Given the description of an element on the screen output the (x, y) to click on. 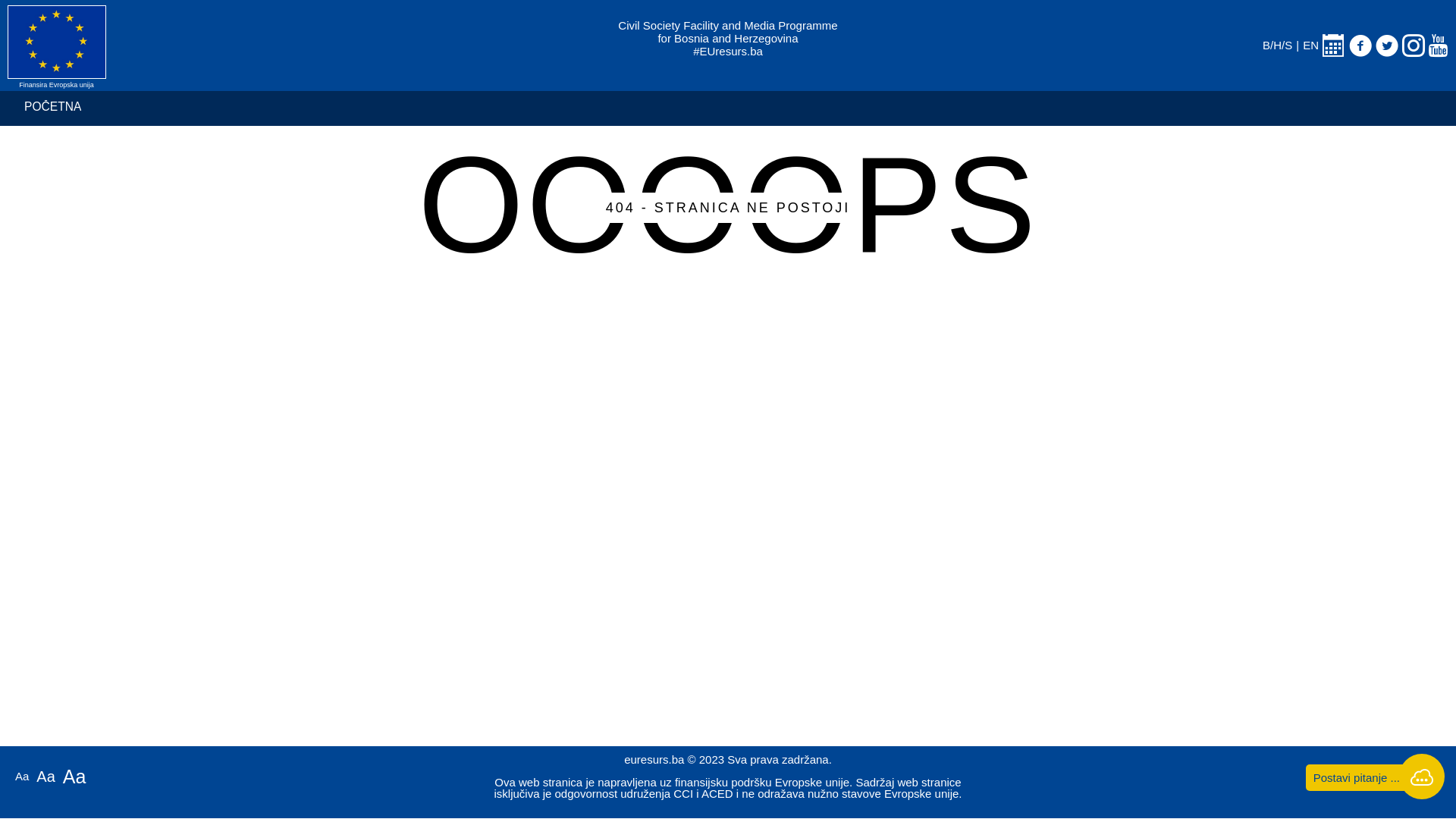
Finansira Evropska unija Element type: text (312, 51)
EN Element type: text (1310, 51)
B/H/S Element type: text (1277, 51)
